Given the description of an element on the screen output the (x, y) to click on. 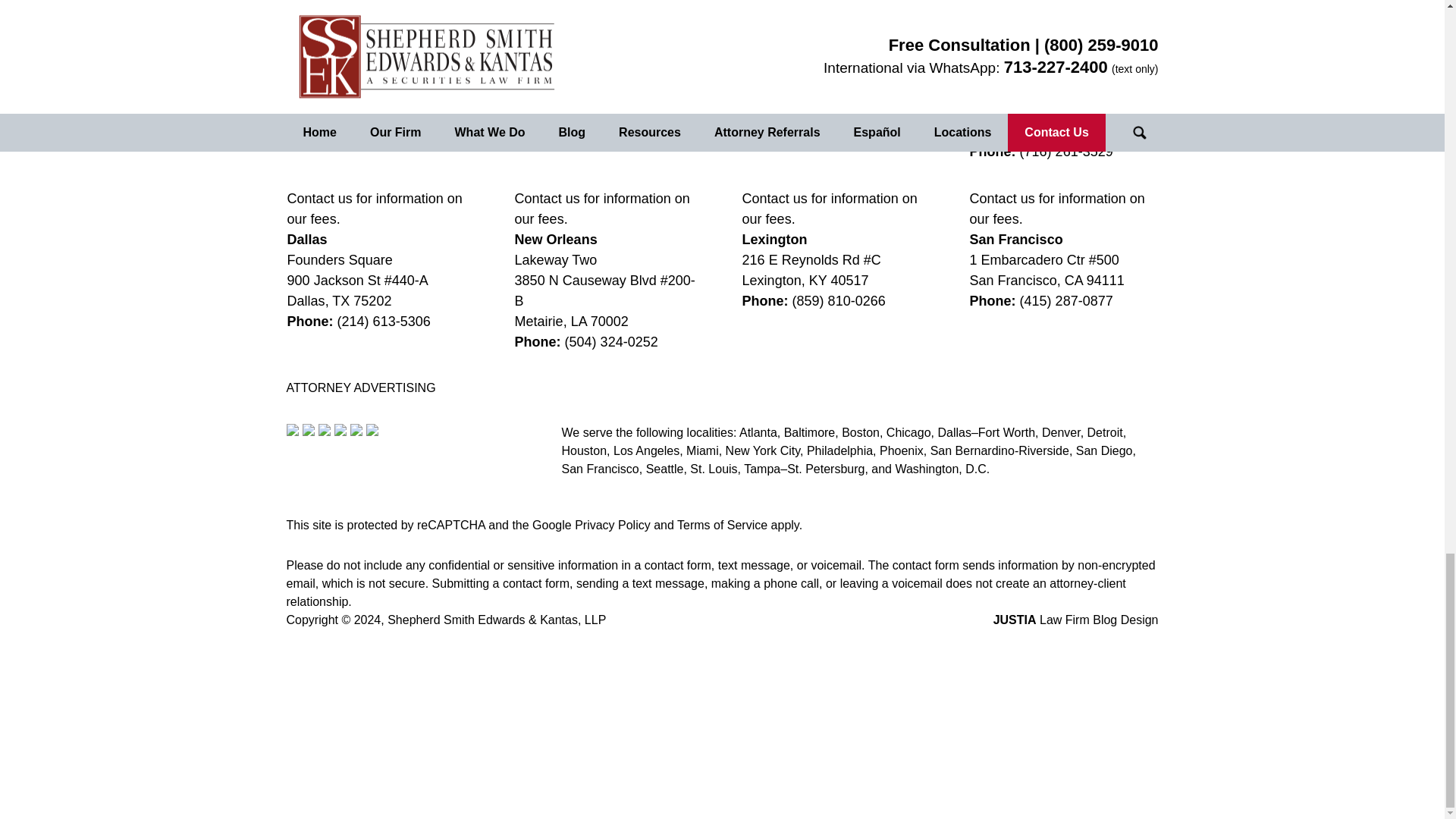
LinkedIn (324, 429)
Twitter (307, 429)
Justia (339, 429)
YouTube (356, 429)
Feed (371, 429)
Facebook (292, 429)
